Given the description of an element on the screen output the (x, y) to click on. 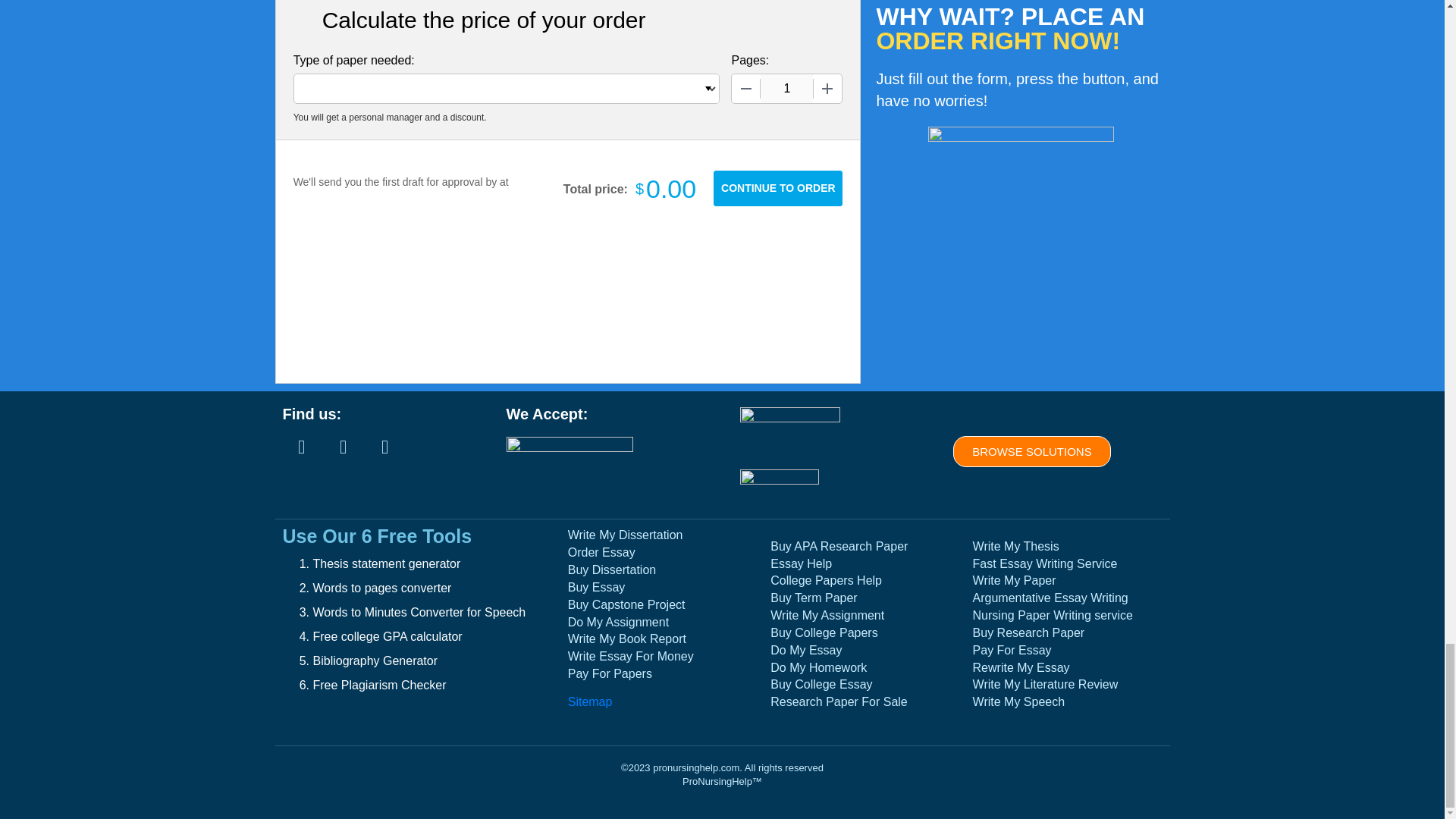
1 (786, 88)
Decrease (746, 88)
Continue to order (778, 188)
Continue to Order (778, 188)
Increase (826, 88)
